Given the description of an element on the screen output the (x, y) to click on. 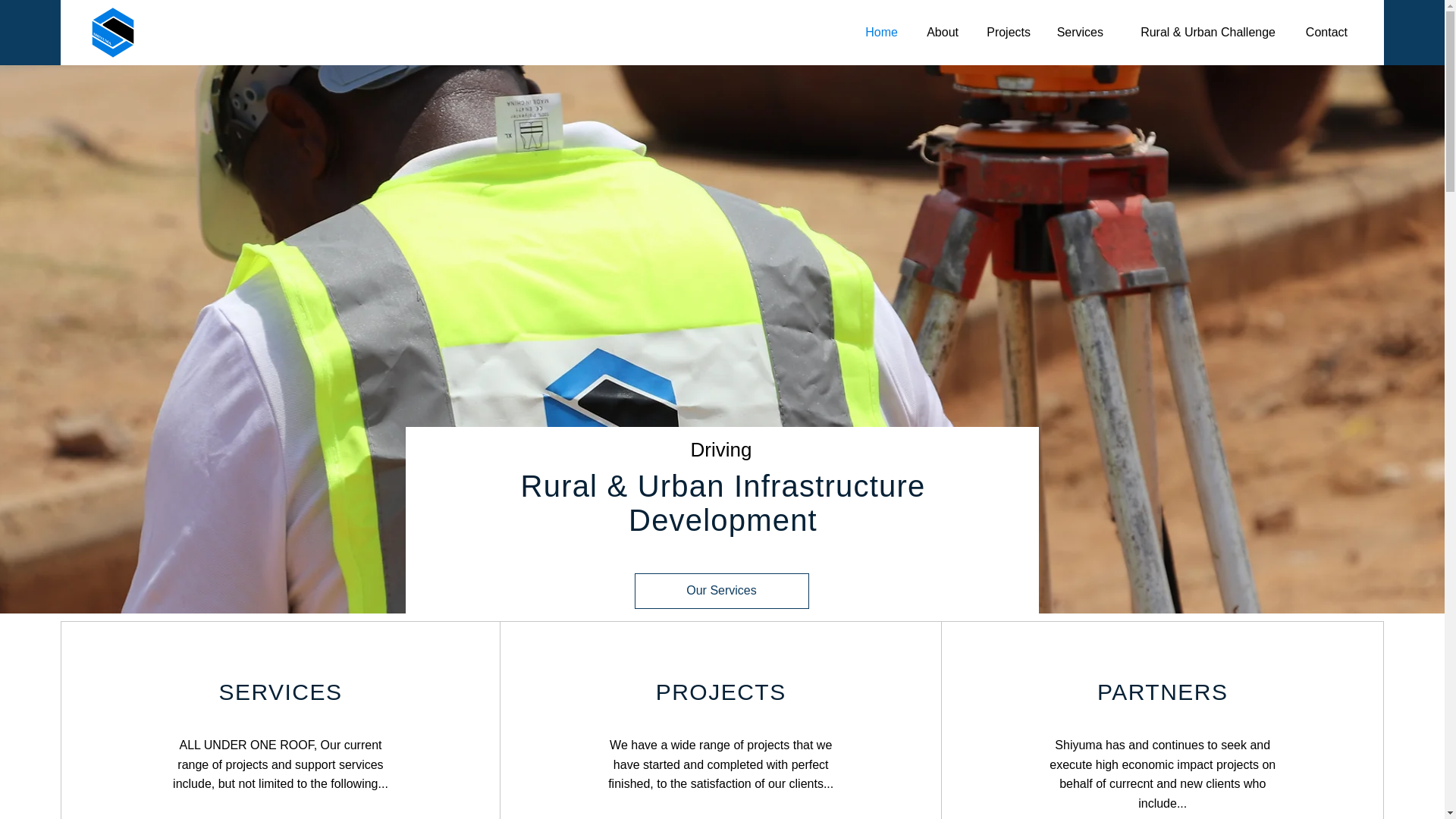
Our Services (720, 591)
Services (1078, 32)
Projects (1005, 32)
Contact (1322, 32)
Home (878, 32)
About (938, 32)
